Given the description of an element on the screen output the (x, y) to click on. 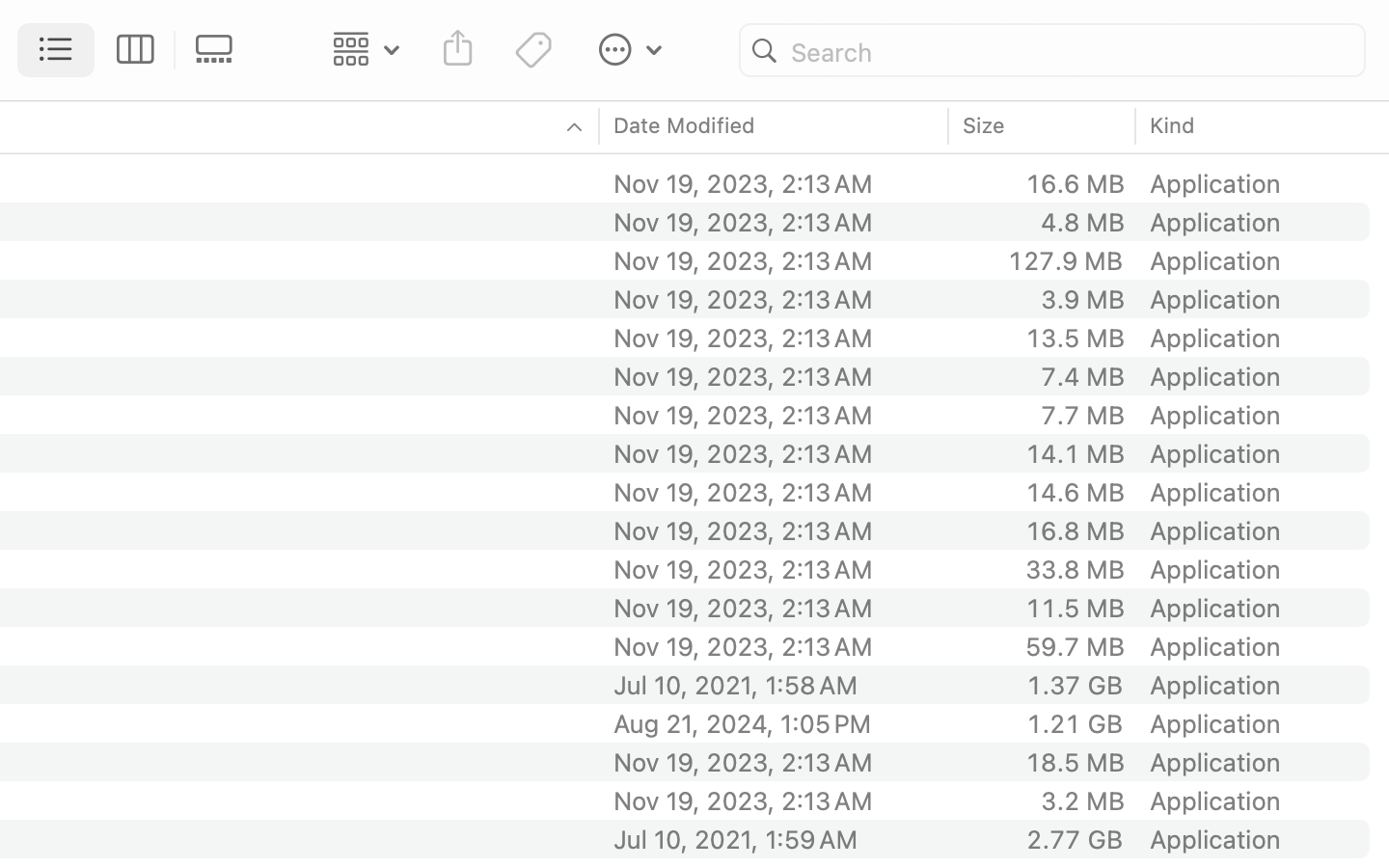
13.5 MB Element type: AXStaticText (1074, 337)
1.37 GB Element type: AXStaticText (1074, 684)
Jul 10, 2021, 1:58 AM Element type: AXStaticText (774, 684)
11.5 MB Element type: AXStaticText (1074, 607)
1.21 GB Element type: AXStaticText (1074, 722)
